Given the description of an element on the screen output the (x, y) to click on. 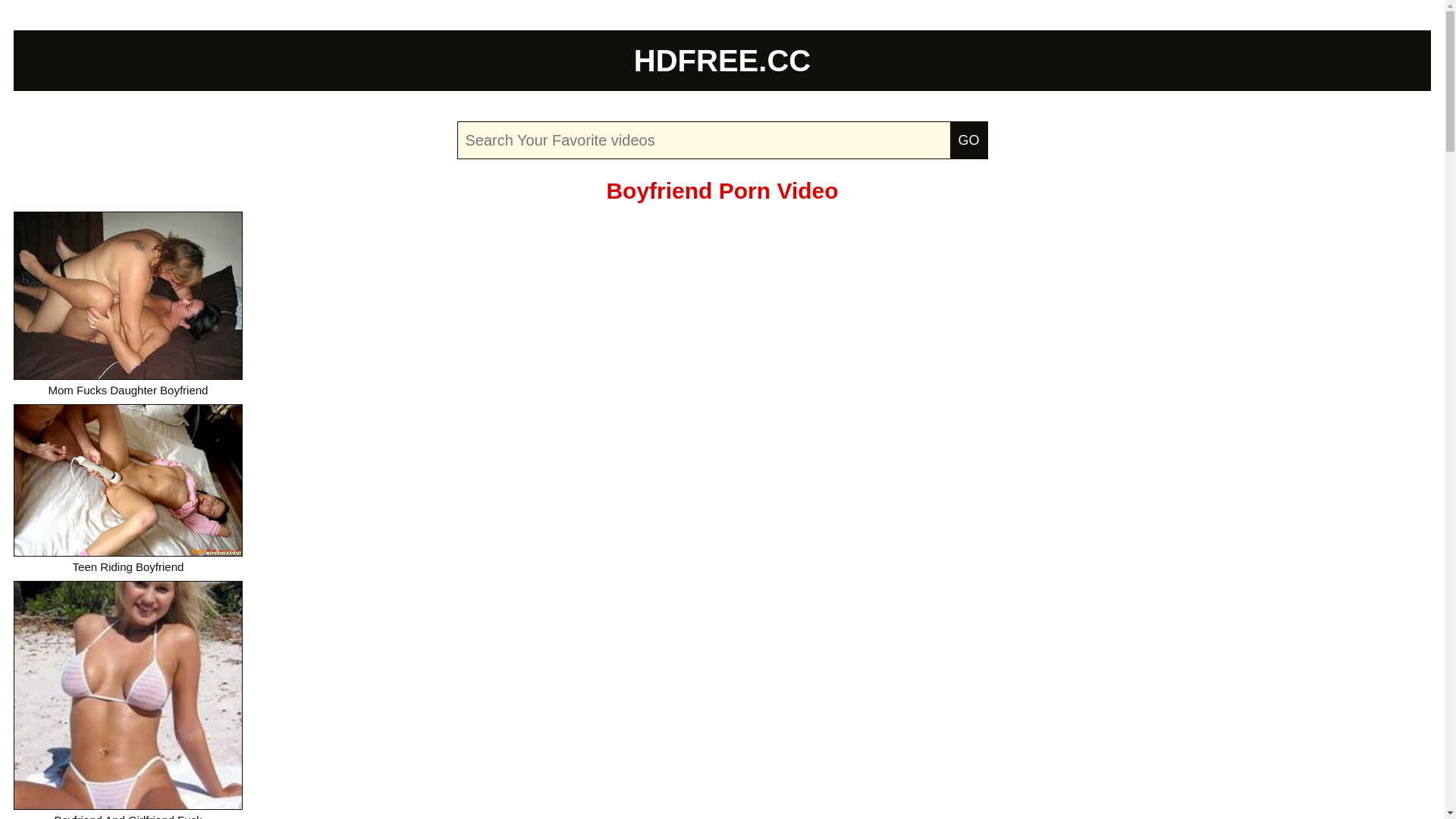
Teen Riding Boyfriend Element type: text (127, 488)
Only letters and numbers without symbols Element type: hover (721, 140)
HDFREE.CC Element type: text (721, 60)
GO Element type: text (968, 140)
Mom Fucks Daughter Boyfriend Element type: text (127, 303)
